Given the description of an element on the screen output the (x, y) to click on. 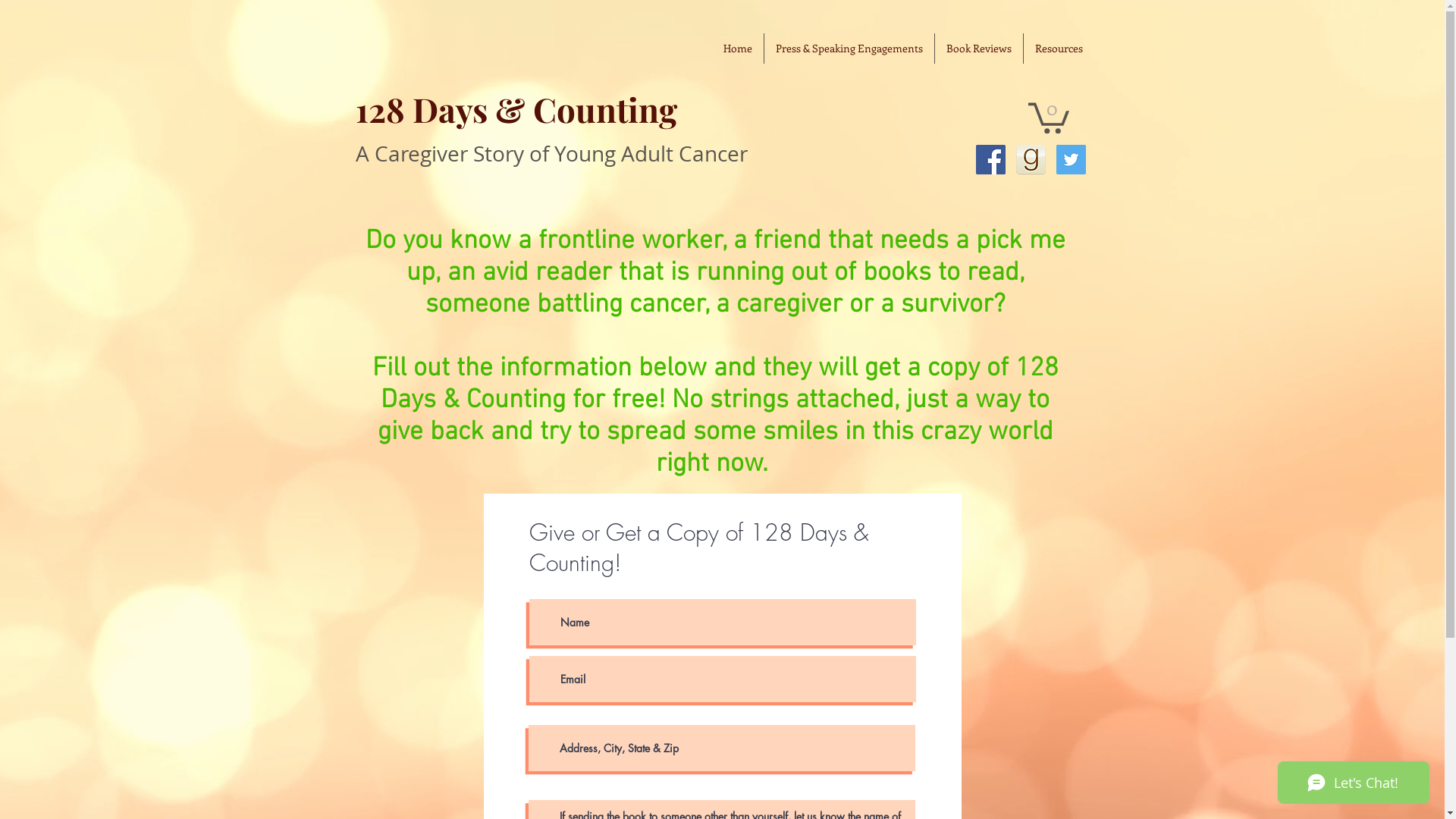
Resources Element type: text (1058, 48)
Press & Speaking Engagements Element type: text (849, 48)
0 Element type: text (1048, 116)
Home Element type: text (736, 48)
Book Reviews Element type: text (978, 48)
